Given the description of an element on the screen output the (x, y) to click on. 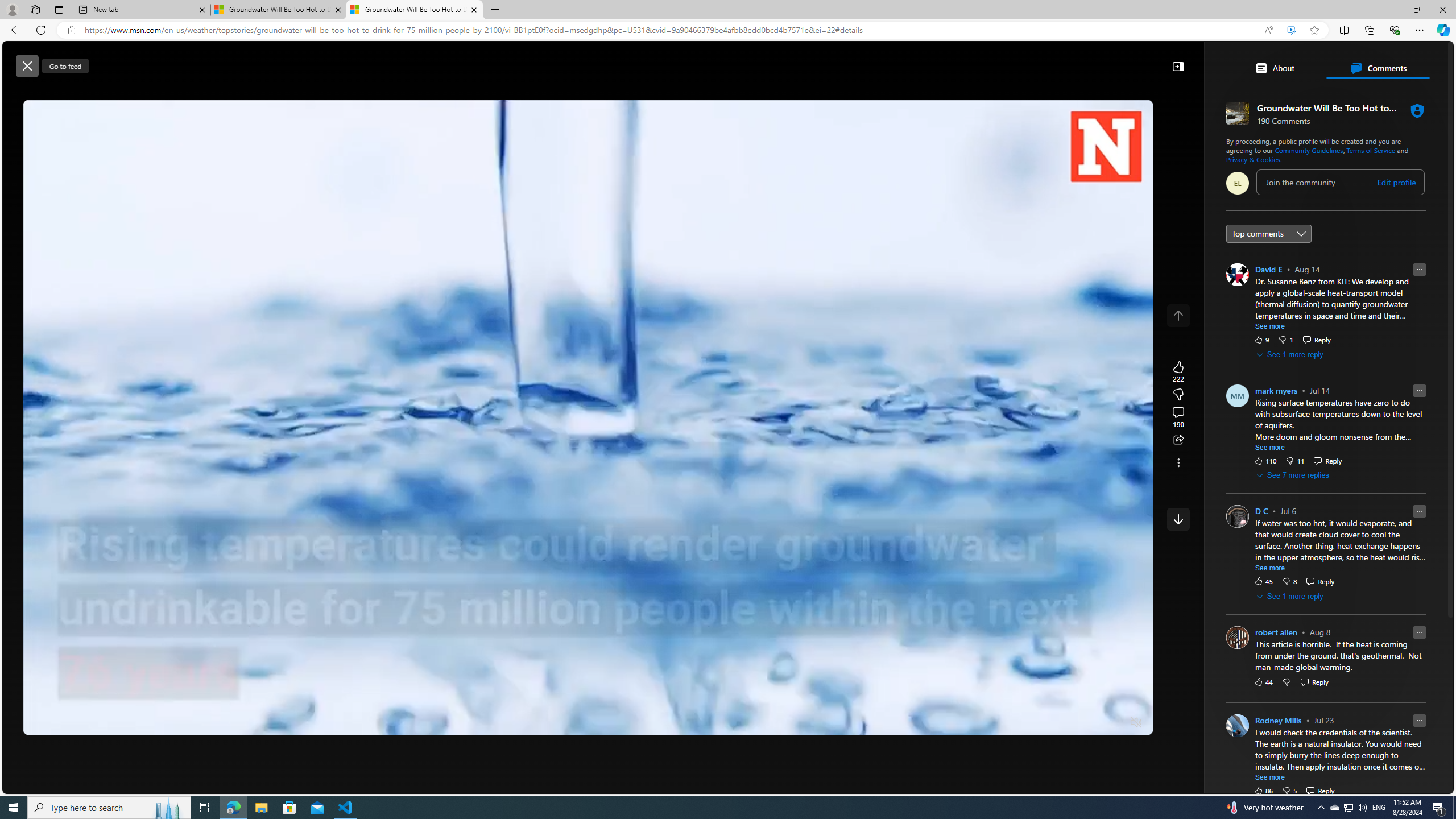
Notifications (1405, 60)
Open settings (1427, 60)
See more (1270, 777)
See 1 more reply (1290, 596)
ABC News (1170, 415)
Collapse (1178, 65)
Address and search bar (669, 29)
The Associated Press (1170, 366)
Skip to footer (46, 59)
Class: control (1178, 518)
Quality Settings (1069, 723)
Reply Reply Comment (1320, 790)
